Given the description of an element on the screen output the (x, y) to click on. 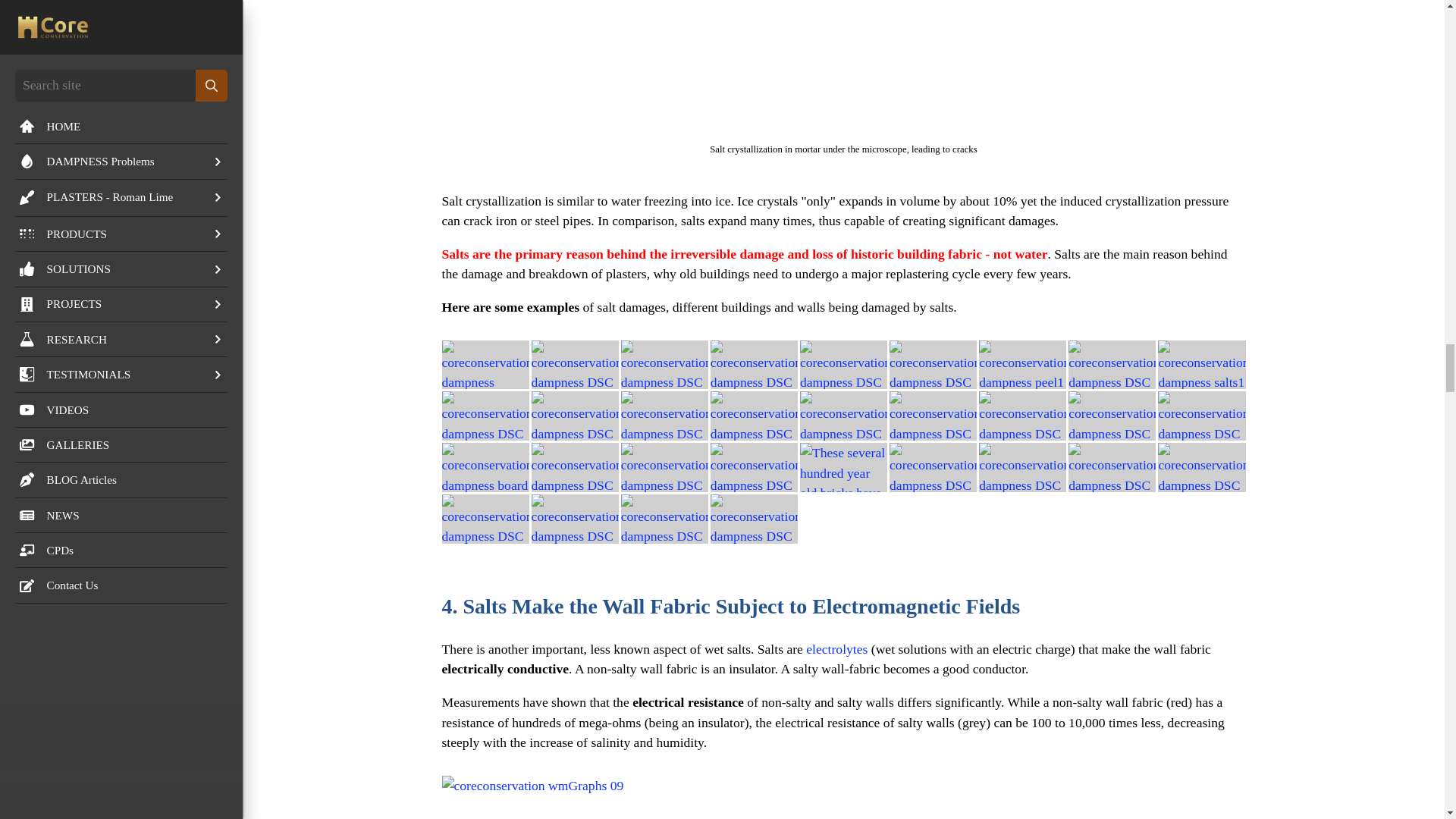
The Effect of Salts in Old Buildings 7 (664, 364)
The Effect of Salts in Old Buildings 15 (574, 415)
The Effect of Salts in Old Buildings 16 (664, 415)
The Effect of Salts in Old Buildings 17 (753, 415)
The Effect of Salts in Old Buildings 8 (753, 364)
The Effect of Salts in Old Buildings 12 (1112, 364)
The Effect of Salts in Old Buildings 6 (574, 364)
The Effect of Salts in Old Buildings 14 (484, 415)
The Effect of Salts in Old Buildings 11 (1021, 364)
The Effect of Salts in Old Buildings 9 (842, 364)
